Given the description of an element on the screen output the (x, y) to click on. 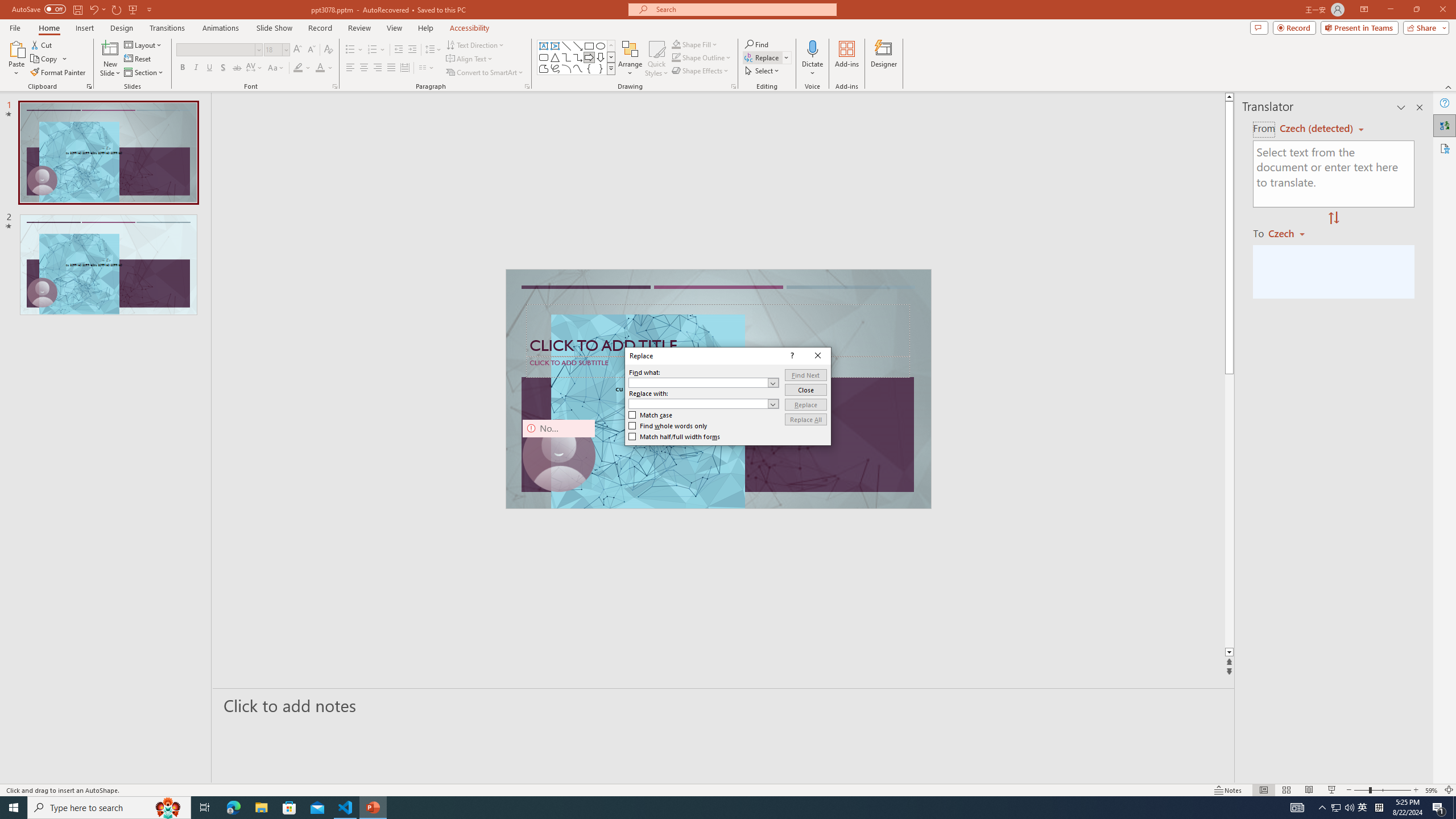
Replace All (805, 418)
Match half/full width forms (674, 436)
Camera 9, No camera detected. (558, 455)
